Given the description of an element on the screen output the (x, y) to click on. 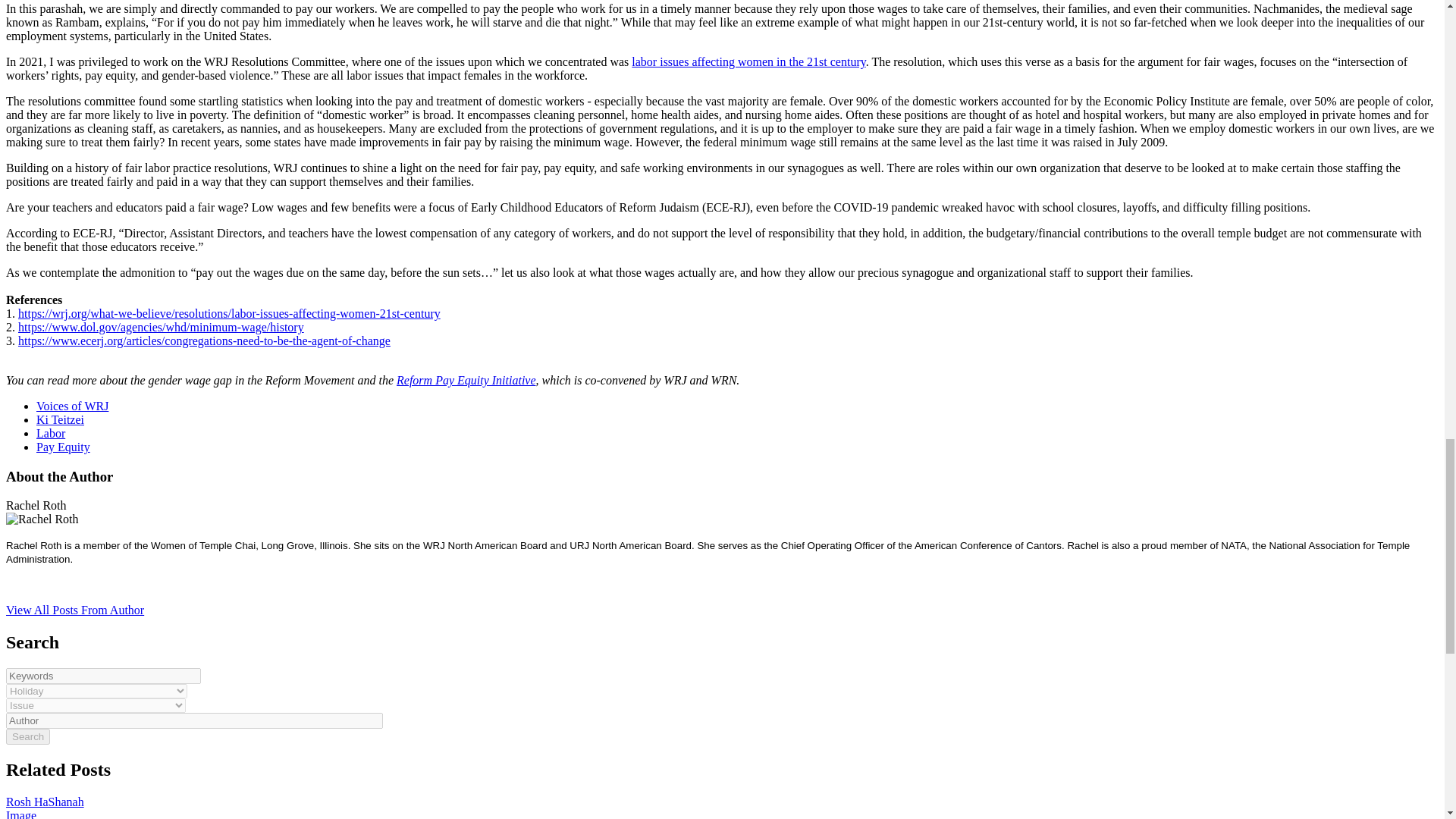
Search (27, 736)
